Given the description of an element on the screen output the (x, y) to click on. 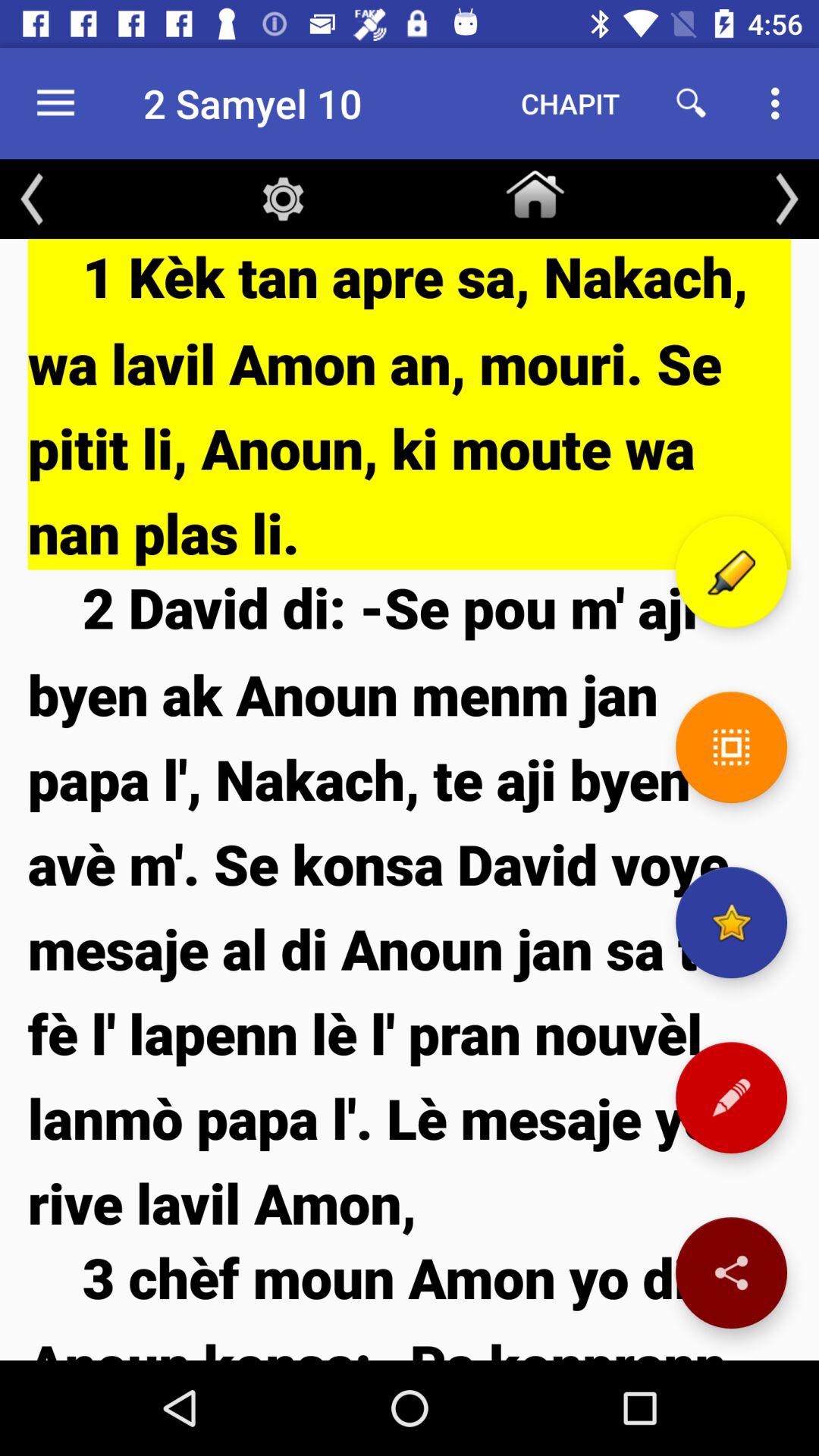
turn on item to the right of the chapit (691, 103)
